Given the description of an element on the screen output the (x, y) to click on. 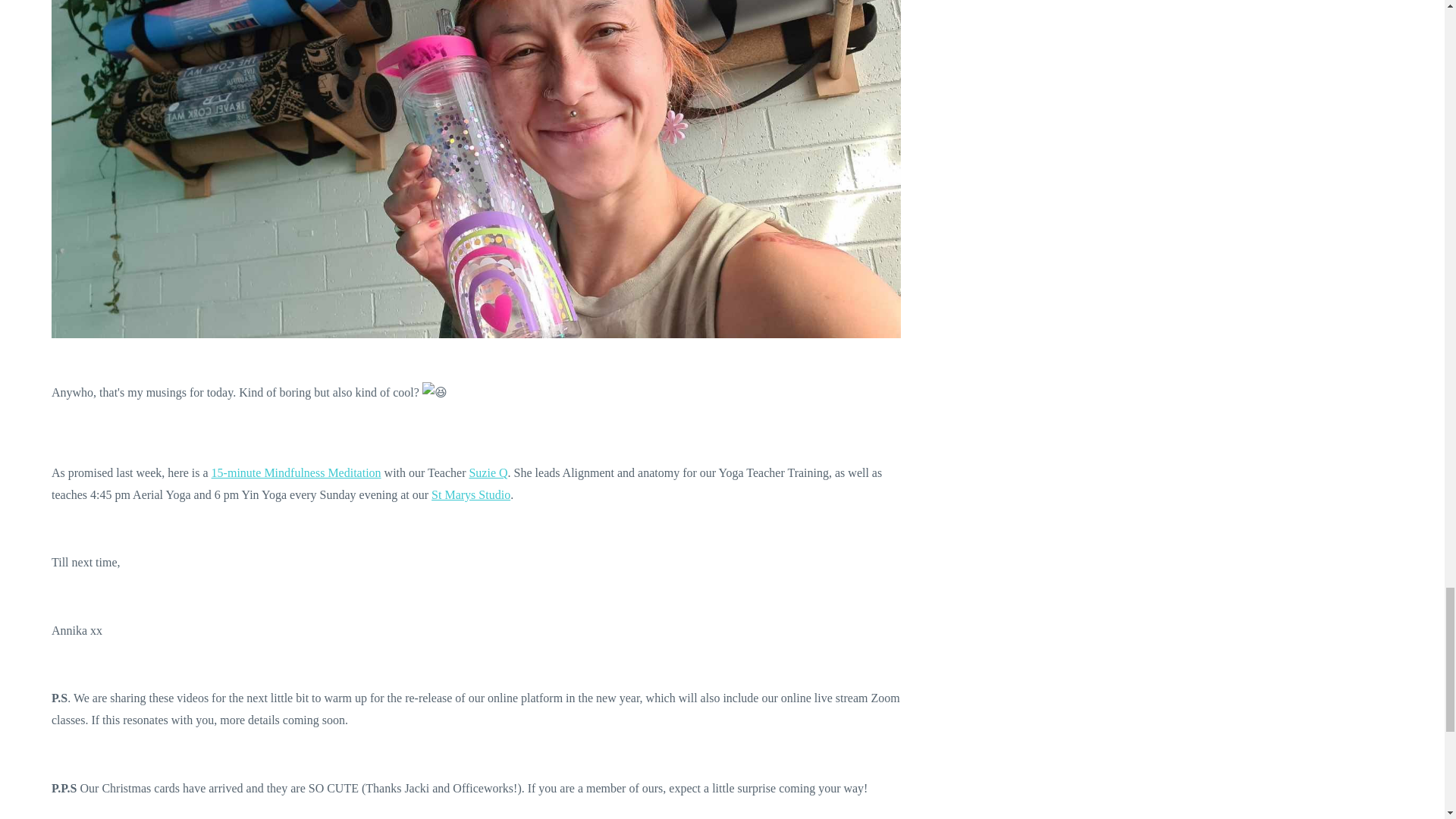
Suzie Q (487, 472)
15-minute Mindfulness Meditation (296, 472)
St Marys Studio (470, 494)
